Given the description of an element on the screen output the (x, y) to click on. 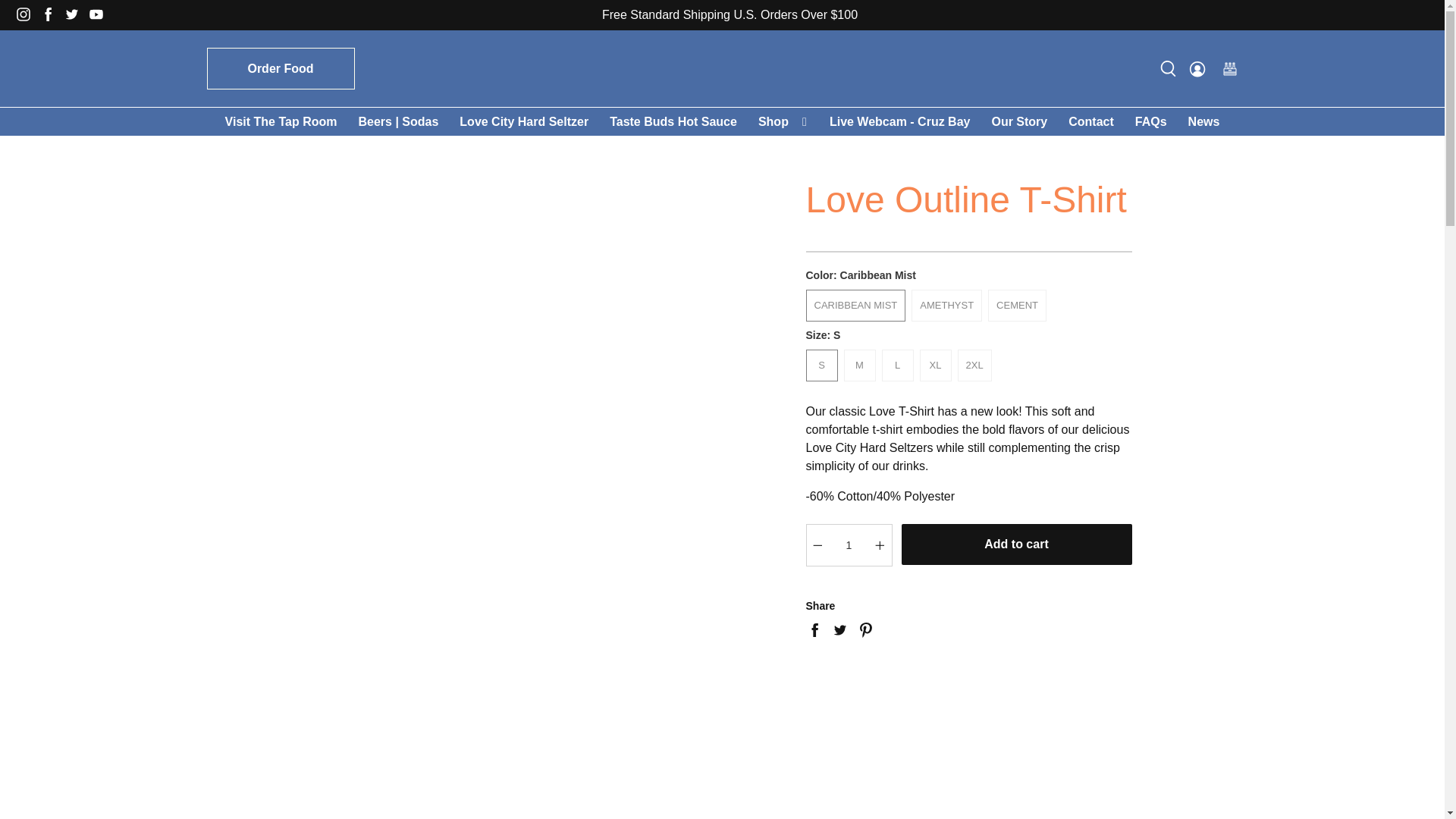
Share this on Pinterest (865, 629)
St John Brewers - Gift Shop on Instagram (26, 18)
St John Brewers - Gift Shop (721, 67)
St John Brewers - Gift Shop on YouTube (99, 18)
St John Brewers - Gift Shop on Twitter (75, 18)
Share this on Twitter (839, 629)
Order Food (279, 68)
St John Brewers - Gift Shop on Facebook (51, 18)
Taste Buds Hot Sauce (673, 121)
1 (849, 544)
